Given the description of an element on the screen output the (x, y) to click on. 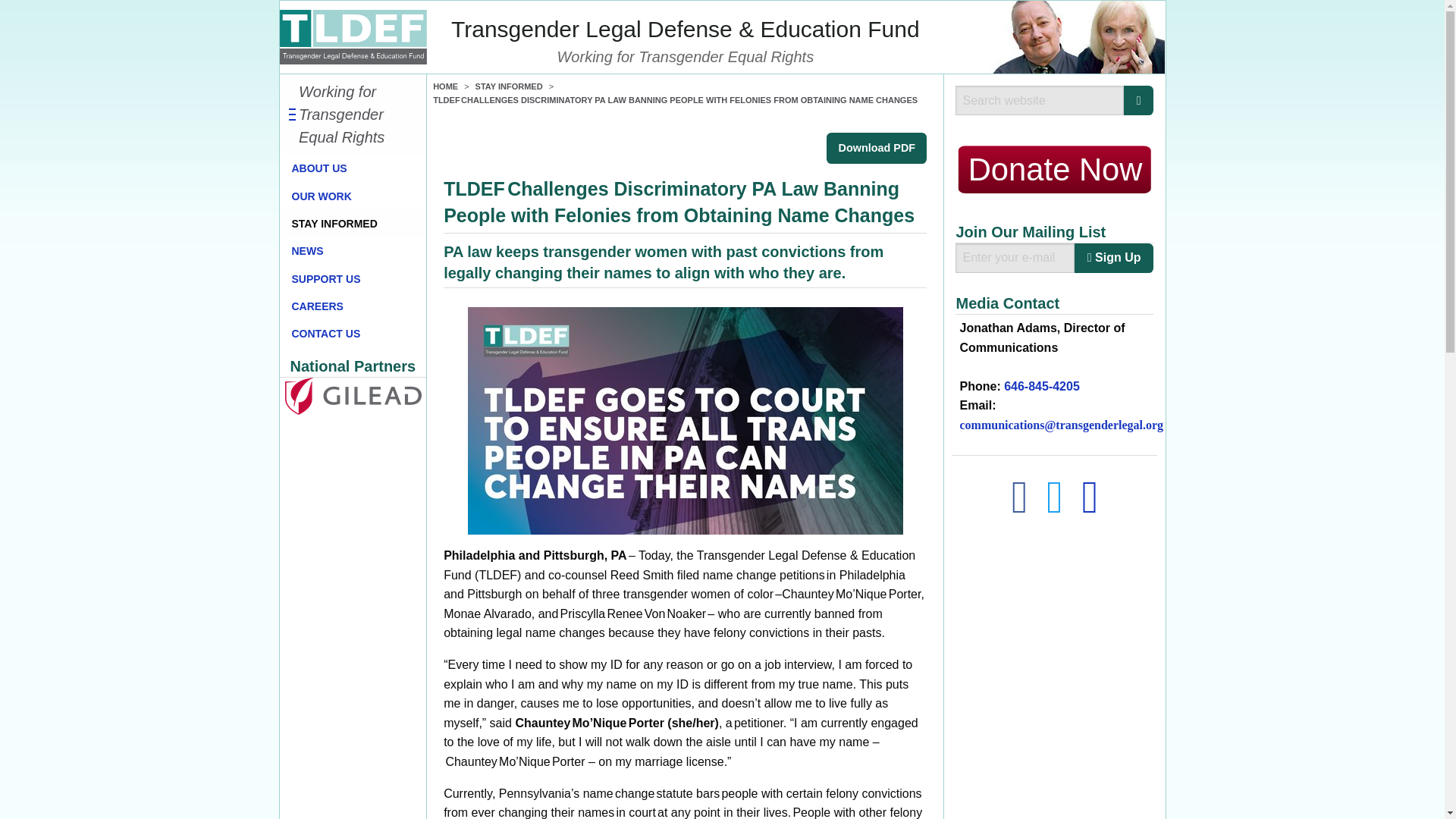
CAREERS (352, 306)
HOME (445, 85)
NEWS (352, 250)
SUPPORT US (352, 278)
ABOUT US (352, 167)
STAY INFORMED (509, 85)
Download PDF (876, 147)
STAY INFORMED (352, 223)
CONTACT US (352, 333)
OUR WORK (352, 195)
